Given the description of an element on the screen output the (x, y) to click on. 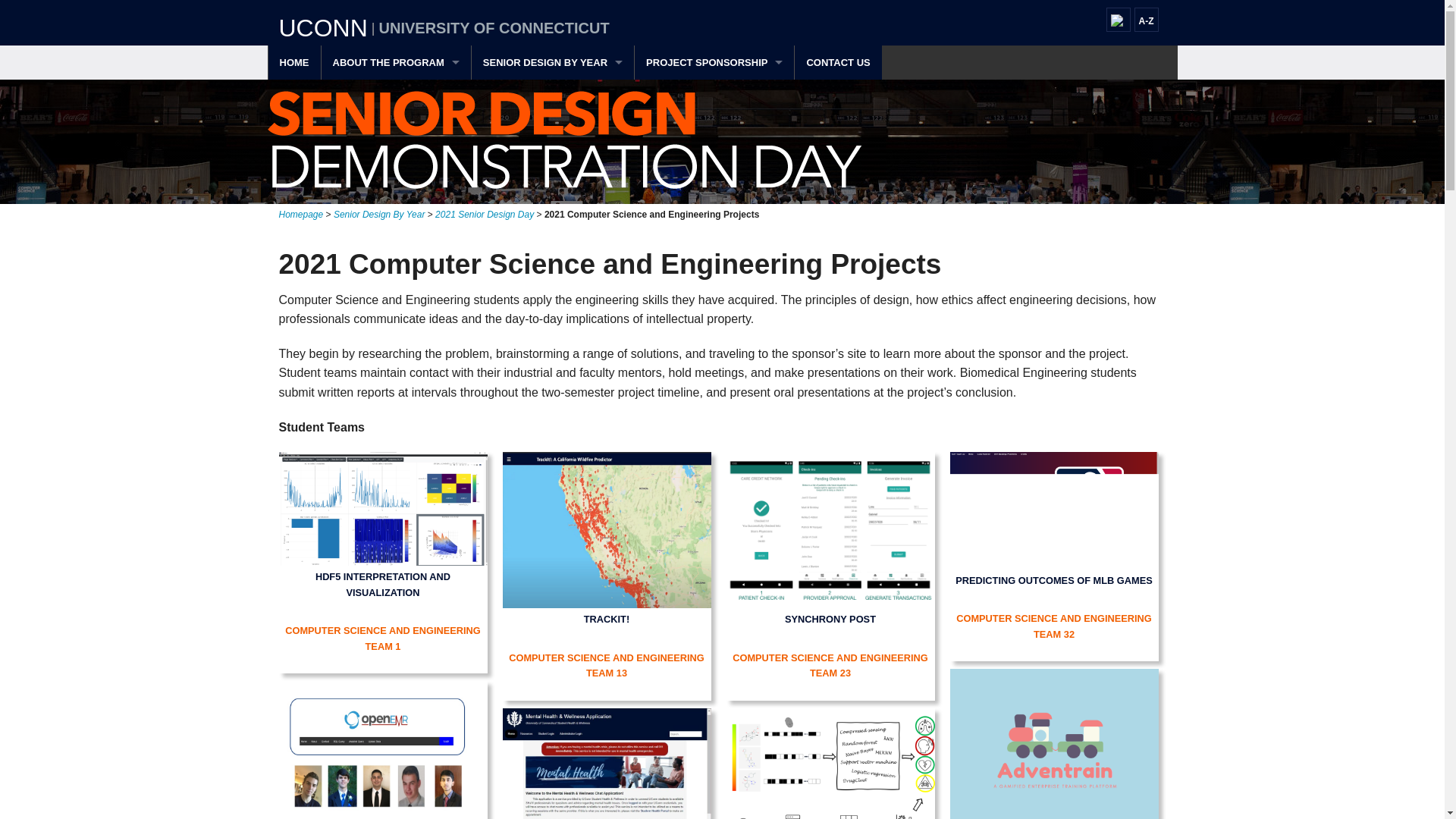
2021 Computer Science and Engineering Projects (651, 214)
UNIVERSITY OF CONNECTICUT (494, 27)
2021 Senior Design Day (484, 214)
ABOUT THE PROGRAM (395, 62)
BENEFITS FOR OUR STUDENTS (395, 130)
Homepage (301, 214)
FACULTY LEADERSHIP BY DEPARTMENT (395, 164)
SENIOR DESIGN BY YEAR (552, 62)
ARCHIVE OF PRIOR YEARS (552, 130)
PROJECT SUMMARIES 2014 TO PRESENT (552, 96)
